Given the description of an element on the screen output the (x, y) to click on. 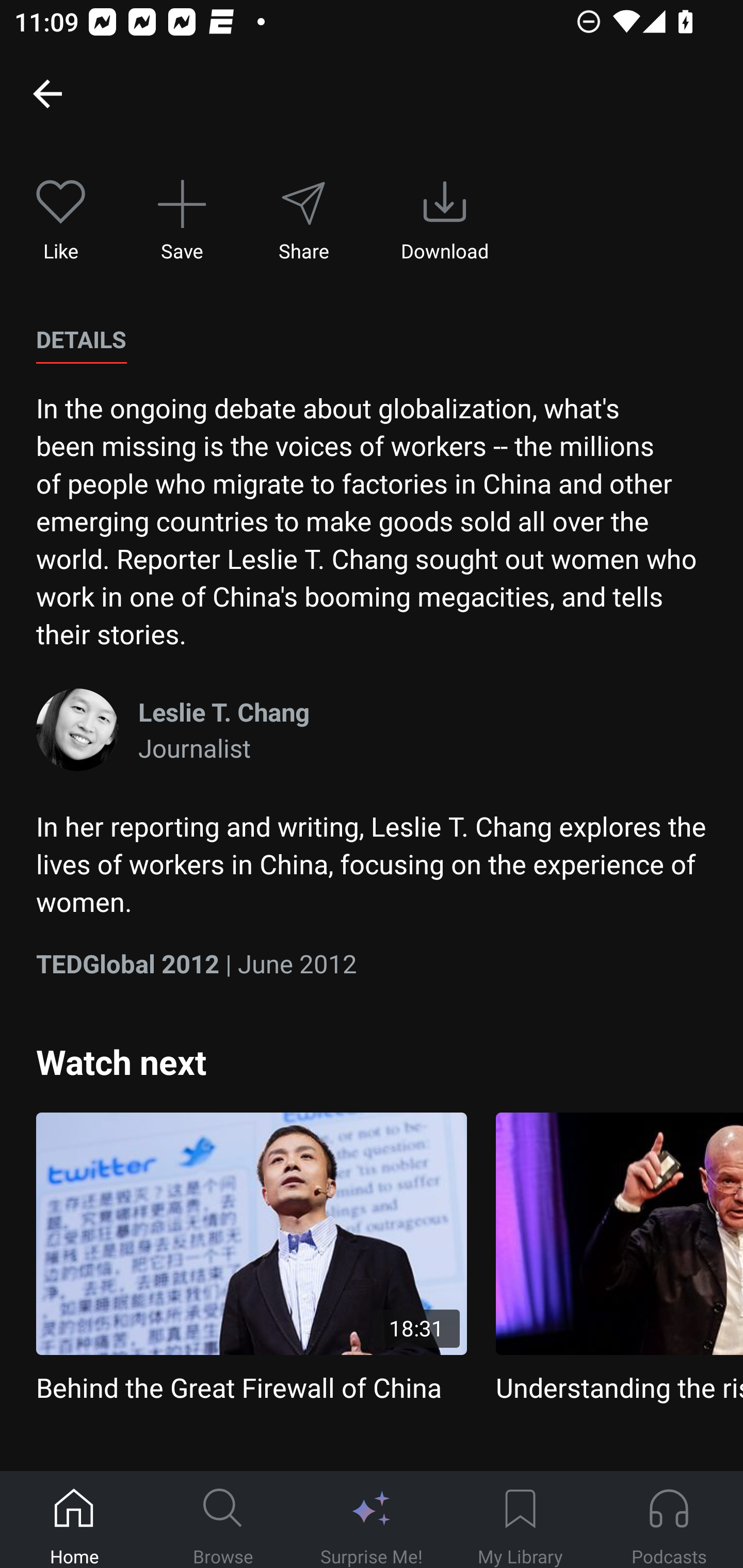
Home, back (47, 92)
Like (60, 220)
Save (181, 220)
Share (302, 220)
Download (444, 220)
DETAILS (80, 339)
18:31 Behind the Great Firewall of China (251, 1258)
Understanding the rise of China (619, 1258)
Home (74, 1520)
Browse (222, 1520)
Surprise Me! (371, 1520)
My Library (519, 1520)
Podcasts (668, 1520)
